Given the description of an element on the screen output the (x, y) to click on. 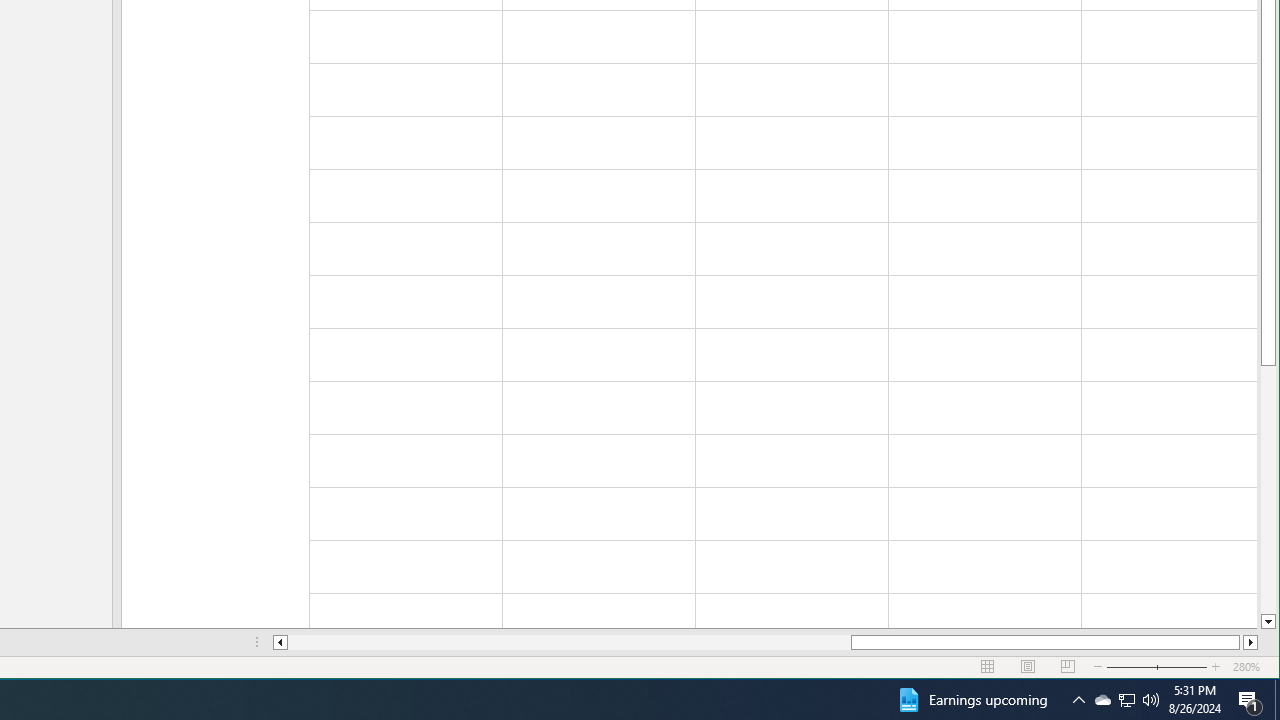
Action Center, 1 new notification (1250, 699)
